Given the description of an element on the screen output the (x, y) to click on. 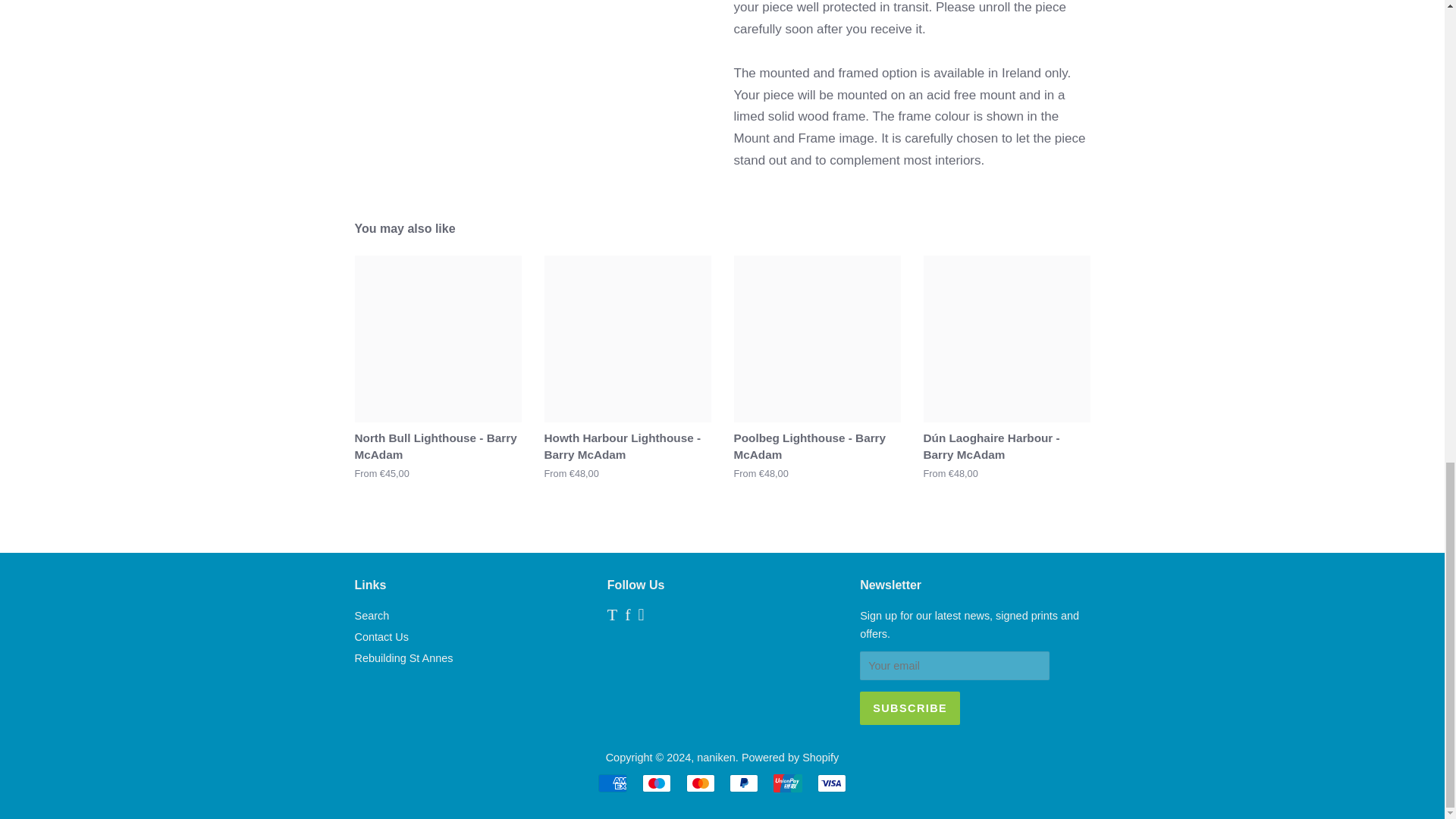
Maestro (656, 782)
Rebuilding St Annes (403, 657)
Subscribe (909, 707)
Mastercard (699, 782)
Contact Us (382, 636)
Visa (830, 782)
PayPal (743, 782)
Union Pay (787, 782)
American Express (612, 782)
Search (372, 615)
